Given the description of an element on the screen output the (x, y) to click on. 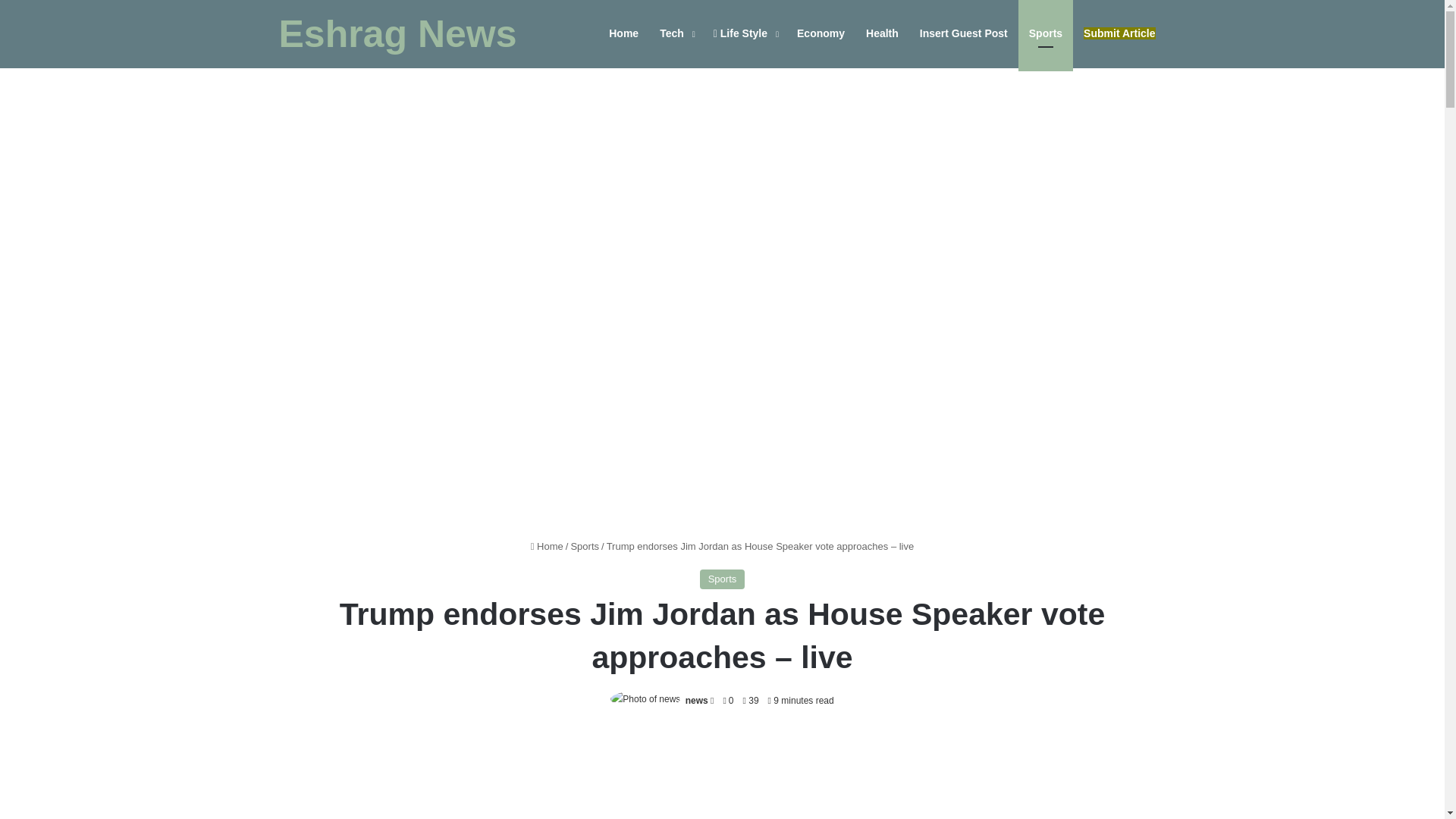
Submit Article (1119, 33)
news (696, 700)
news (696, 700)
Advertisement (722, 775)
Life Style (744, 33)
Economy (821, 33)
Eshrag News (397, 34)
Sports (722, 578)
